Given the description of an element on the screen output the (x, y) to click on. 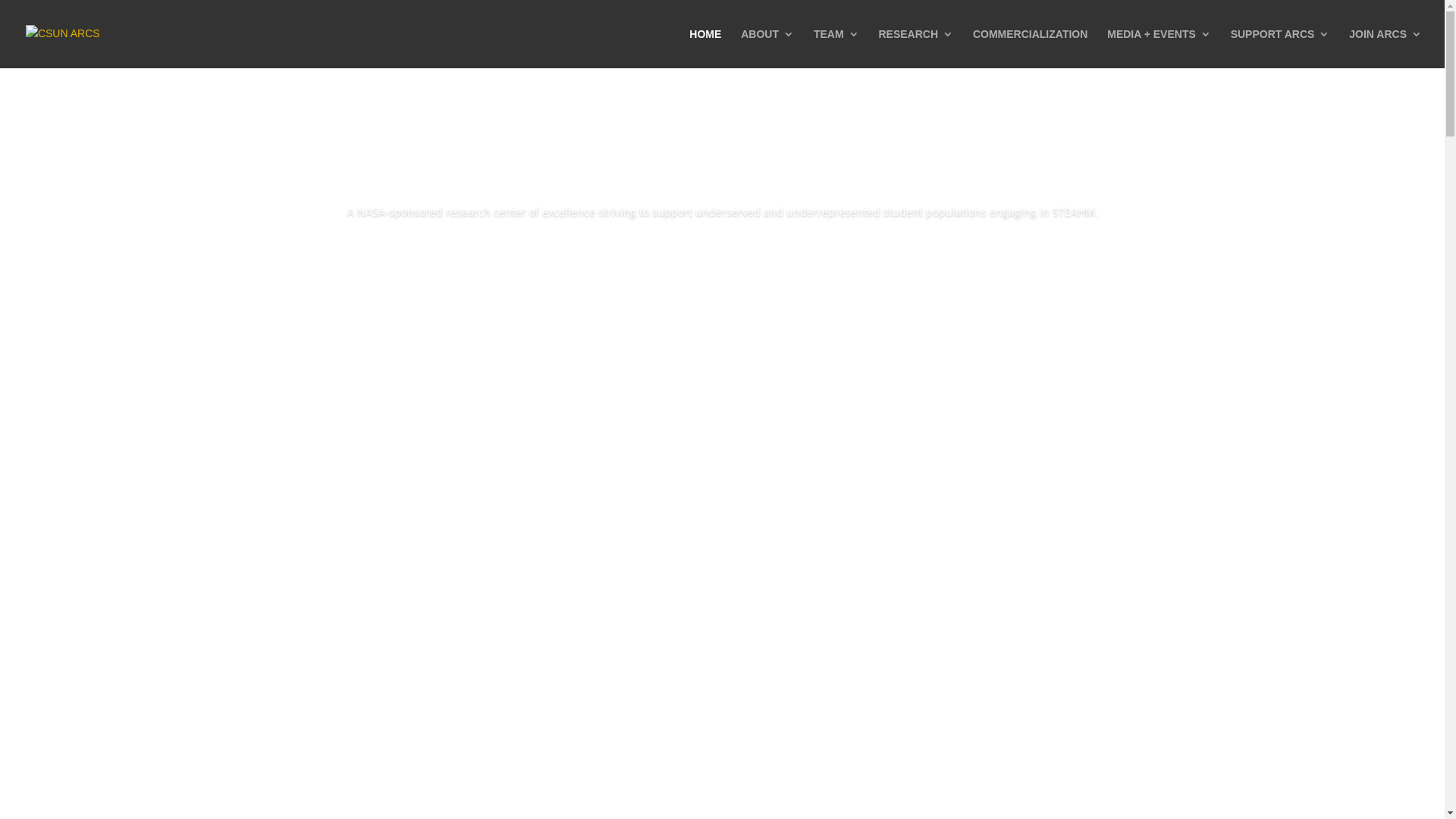
LEARN MORE Element type: text (721, 255)
SUPPORT ARCS Element type: text (1280, 48)
MEDIA + EVENTS Element type: text (1159, 48)
COMMERCIALIZATION Element type: text (1029, 48)
TEAM Element type: text (836, 48)
HOME Element type: text (705, 48)
RESEARCH Element type: text (915, 48)
JOIN ARCS Element type: text (1385, 48)
ABOUT Element type: text (766, 48)
